Given the description of an element on the screen output the (x, y) to click on. 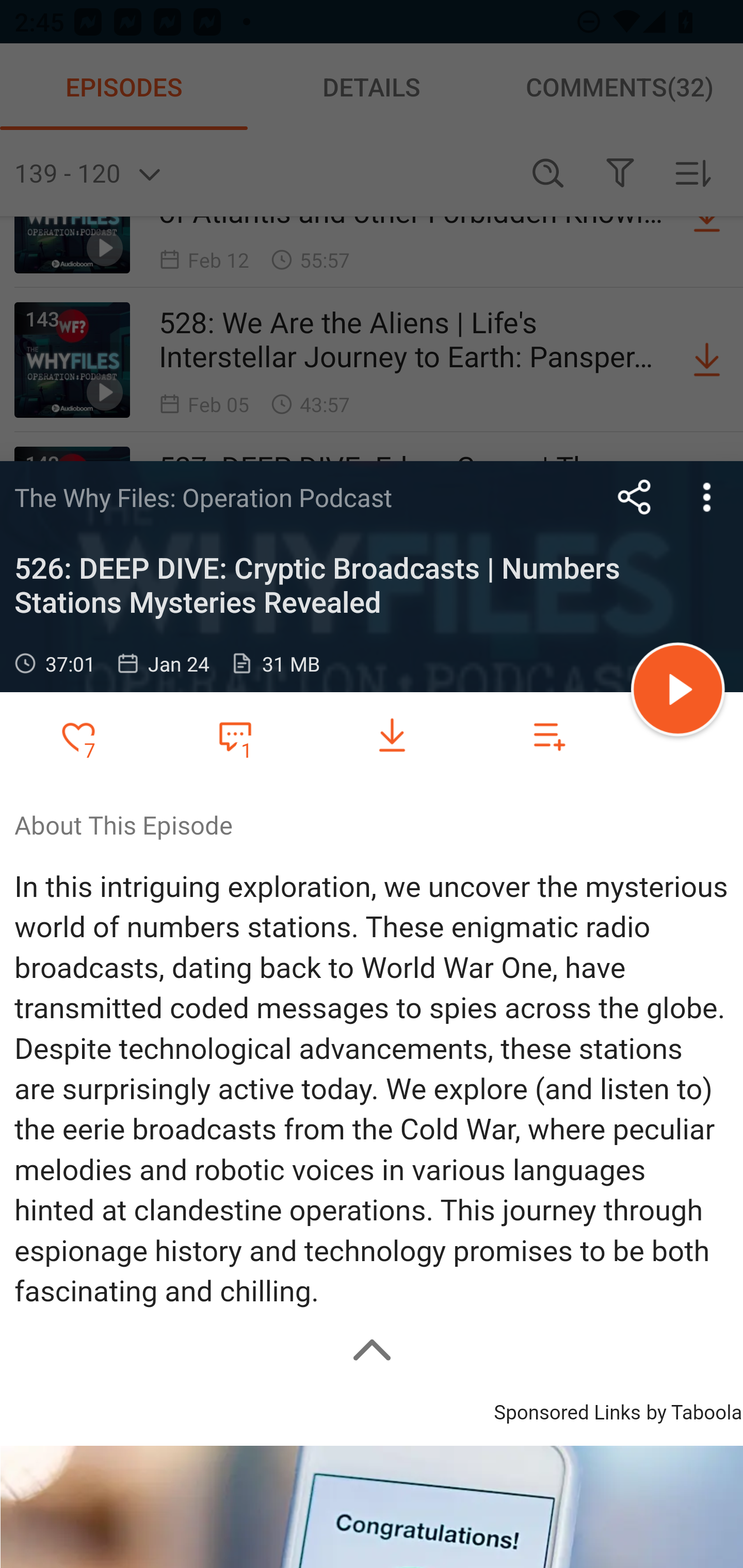
Share (634, 496)
more options (706, 496)
Play (677, 692)
1 Favorite (234, 735)
Add to Favorites (78, 735)
Download (391, 735)
Add to playlist (548, 735)
Sponsored Links (566, 1410)
by Taboola (693, 1410)
